Given the description of an element on the screen output the (x, y) to click on. 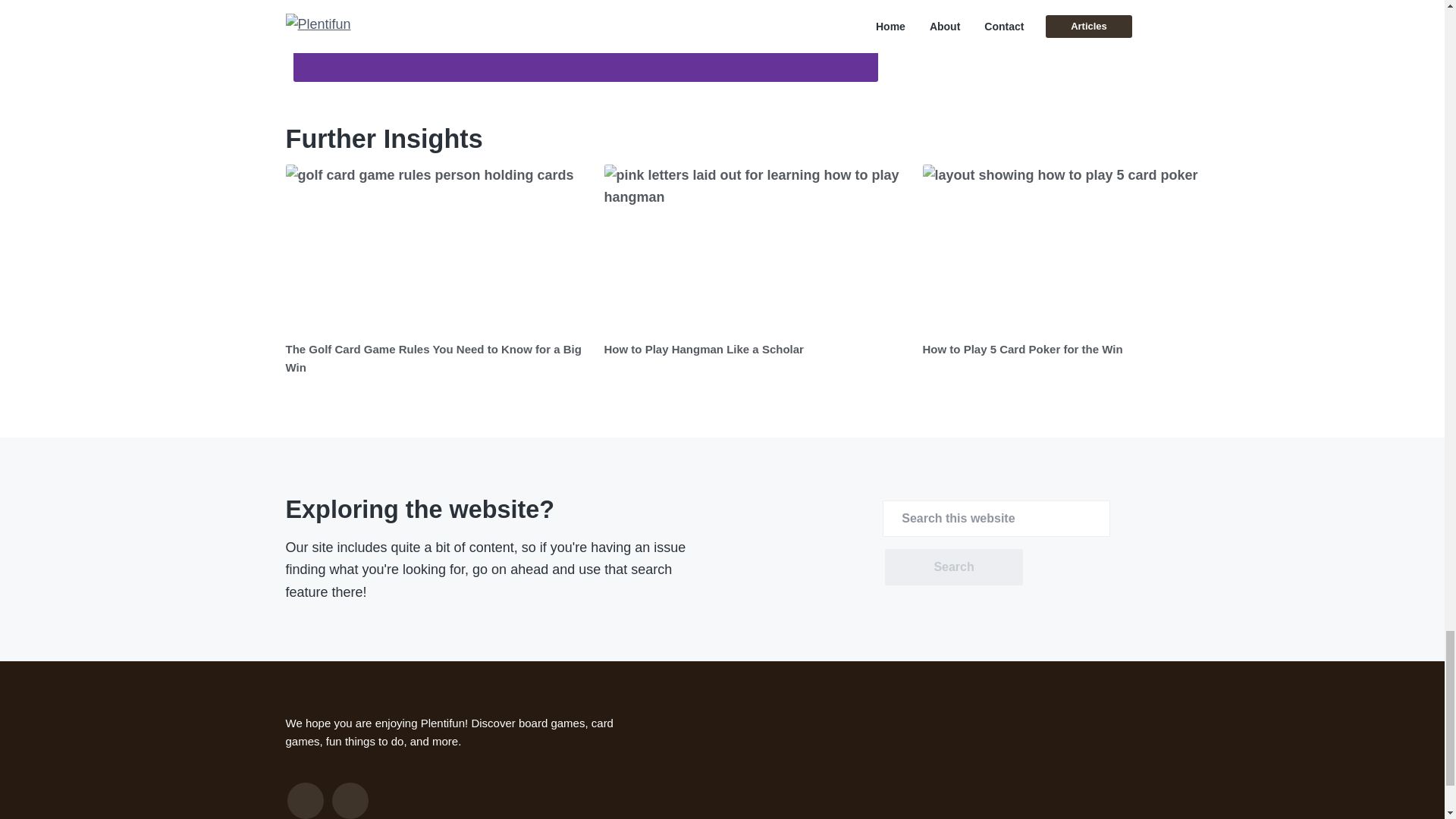
Permanent Link to How to Play 5 Card Poker for the Win (1021, 349)
The Golf Card Game Rules You Need to Know for a Big Win (432, 358)
Permanent Link to How to Play Hangman Like a Scholar (755, 248)
Permanent Link to How to Play Hangman Like a Scholar (703, 349)
Search (953, 566)
How to Play Hangman Like a Scholar (703, 349)
Permanent Link to How to Play 5 Card Poker for the Win (1073, 248)
Search (953, 566)
